Given the description of an element on the screen output the (x, y) to click on. 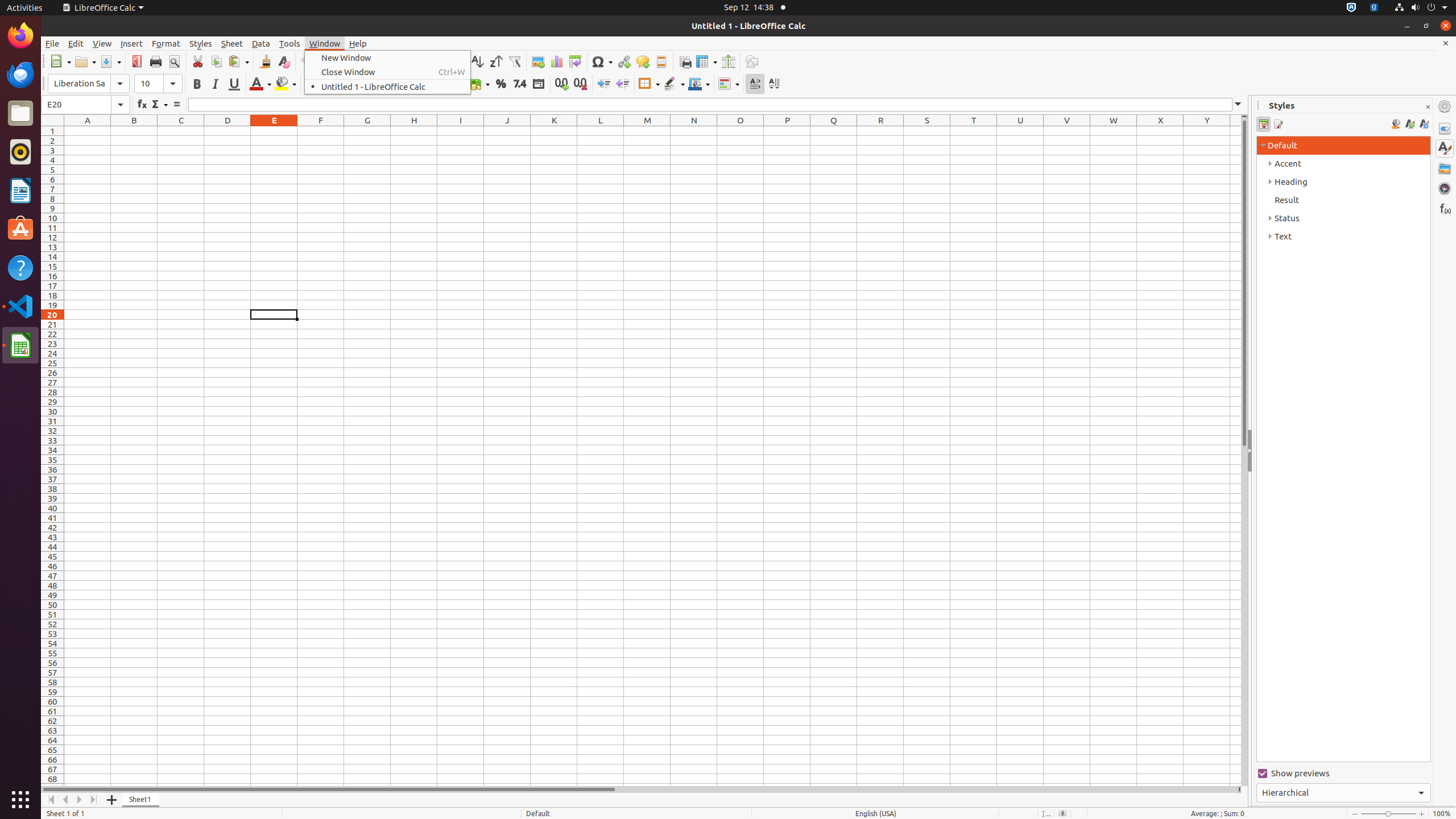
Font Size Element type: combo-box (158, 83)
Move Left Element type: push-button (65, 799)
Q1 Element type: table-cell (833, 130)
New Element type: push-button (59, 61)
